Given the description of an element on the screen output the (x, y) to click on. 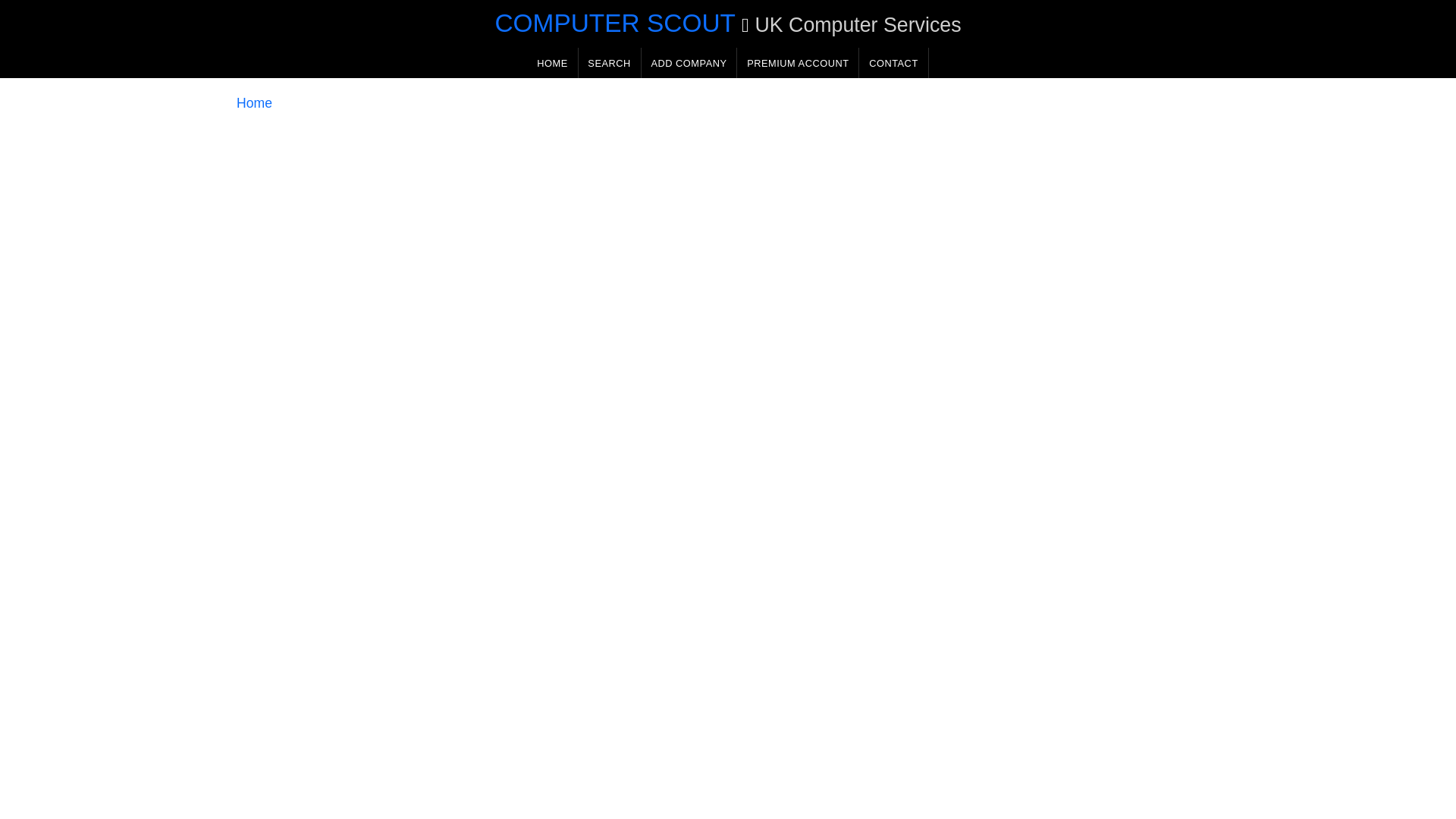
Search in this webseite. (609, 62)
ADD COMPANY (689, 62)
CONTACT (893, 62)
SEARCH (609, 62)
Add a new company (689, 62)
Premium account (797, 62)
Home (253, 102)
COMPUTER SCOUT (615, 22)
HOME (551, 62)
PREMIUM ACCOUNT (797, 62)
